Given the description of an element on the screen output the (x, y) to click on. 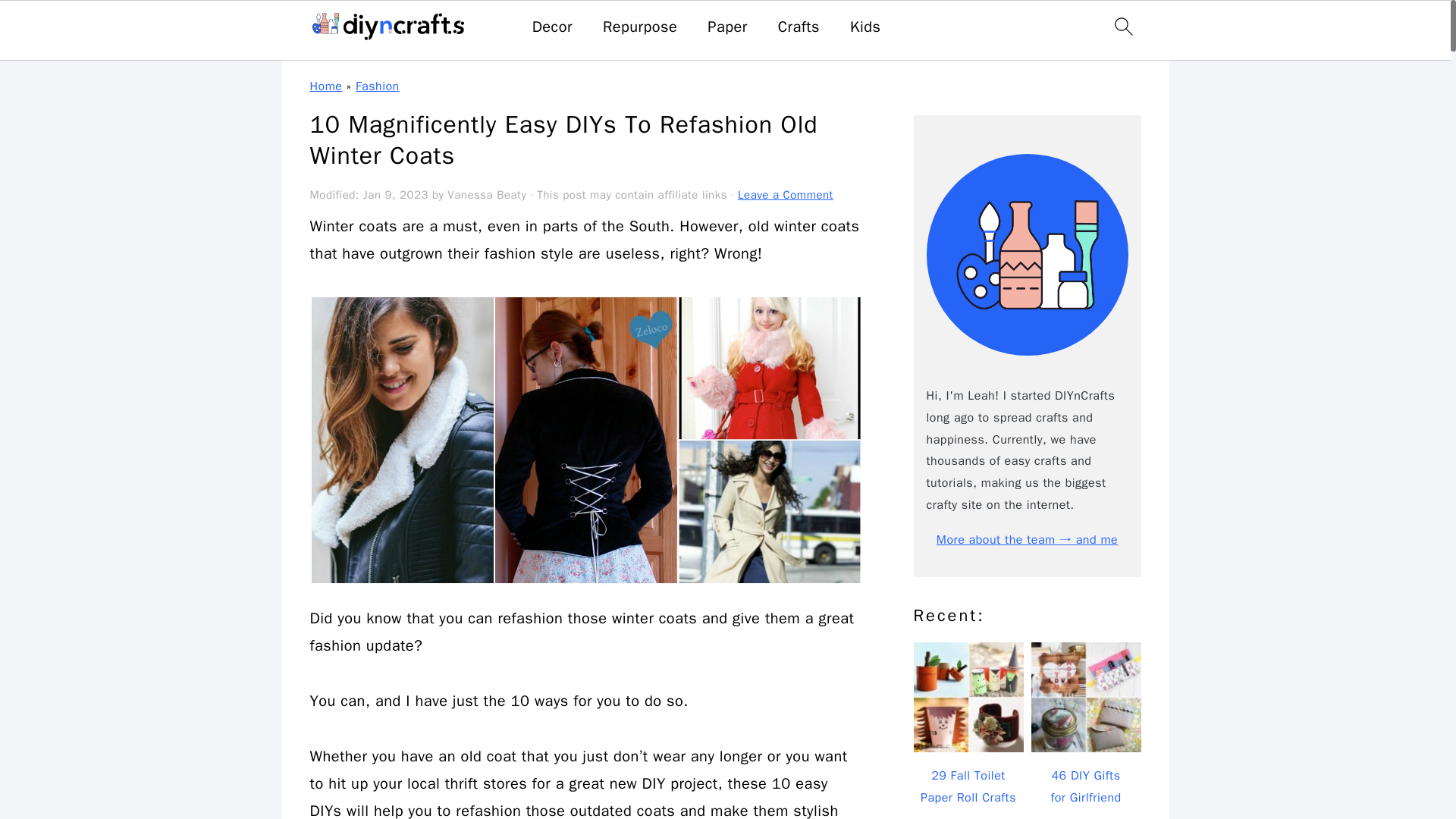
search icon (1122, 26)
Decor (552, 27)
